Given the description of an element on the screen output the (x, y) to click on. 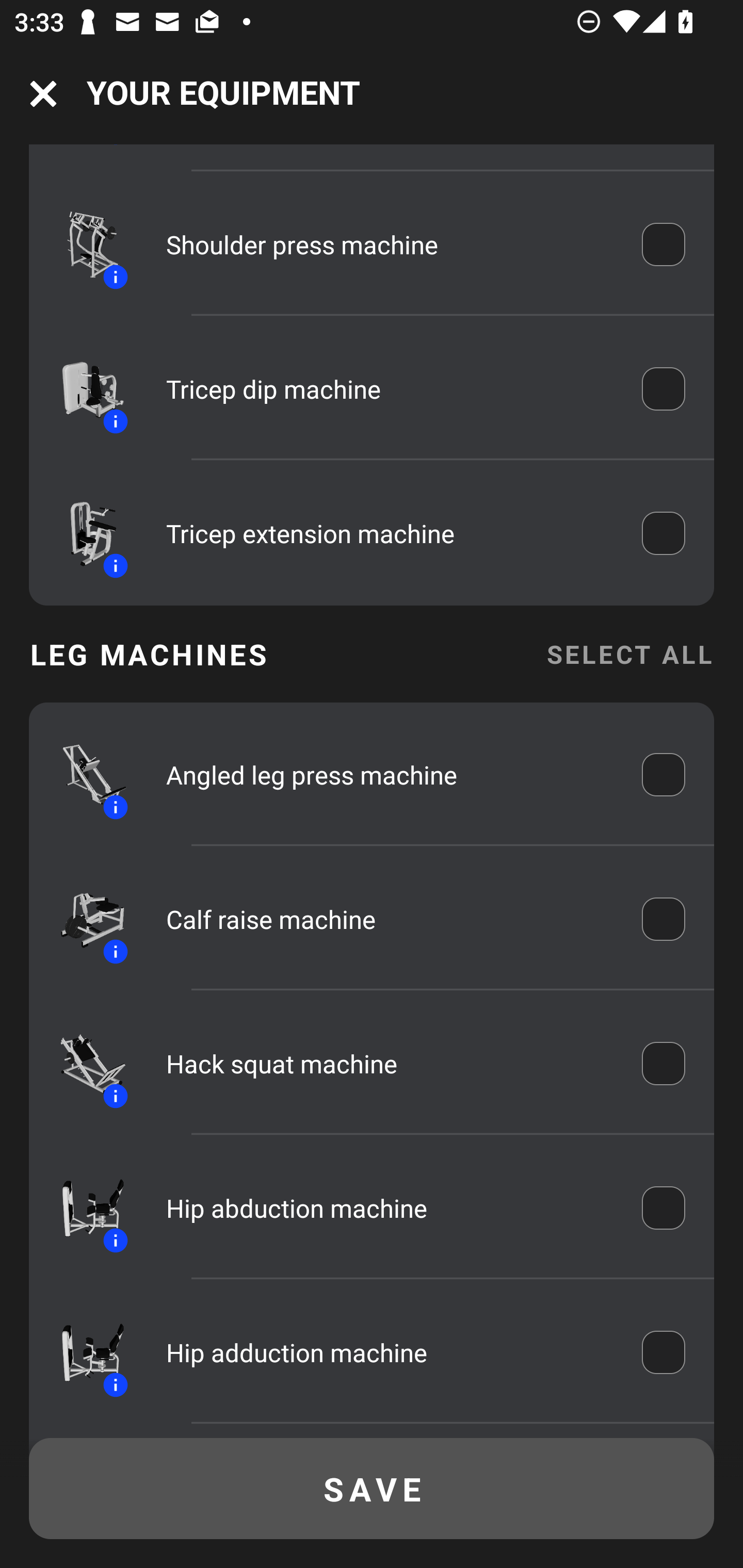
Navigation icon (43, 93)
Equipment icon Information icon (82, 243)
Shoulder press machine (389, 244)
Equipment icon Information icon (82, 388)
Tricep dip machine (389, 388)
Equipment icon Information icon (82, 533)
Tricep extension machine (389, 533)
SELECT ALL (629, 653)
Equipment icon Information icon (82, 775)
Angled leg press machine (389, 774)
Equipment icon Information icon (82, 919)
Calf raise machine (389, 919)
Equipment icon Information icon (82, 1063)
Hack squat machine (389, 1063)
Equipment icon Information icon (82, 1208)
Hip abduction machine (389, 1208)
Equipment icon Information icon (82, 1352)
Hip adduction machine (389, 1352)
SAVE (371, 1488)
